Given the description of an element on the screen output the (x, y) to click on. 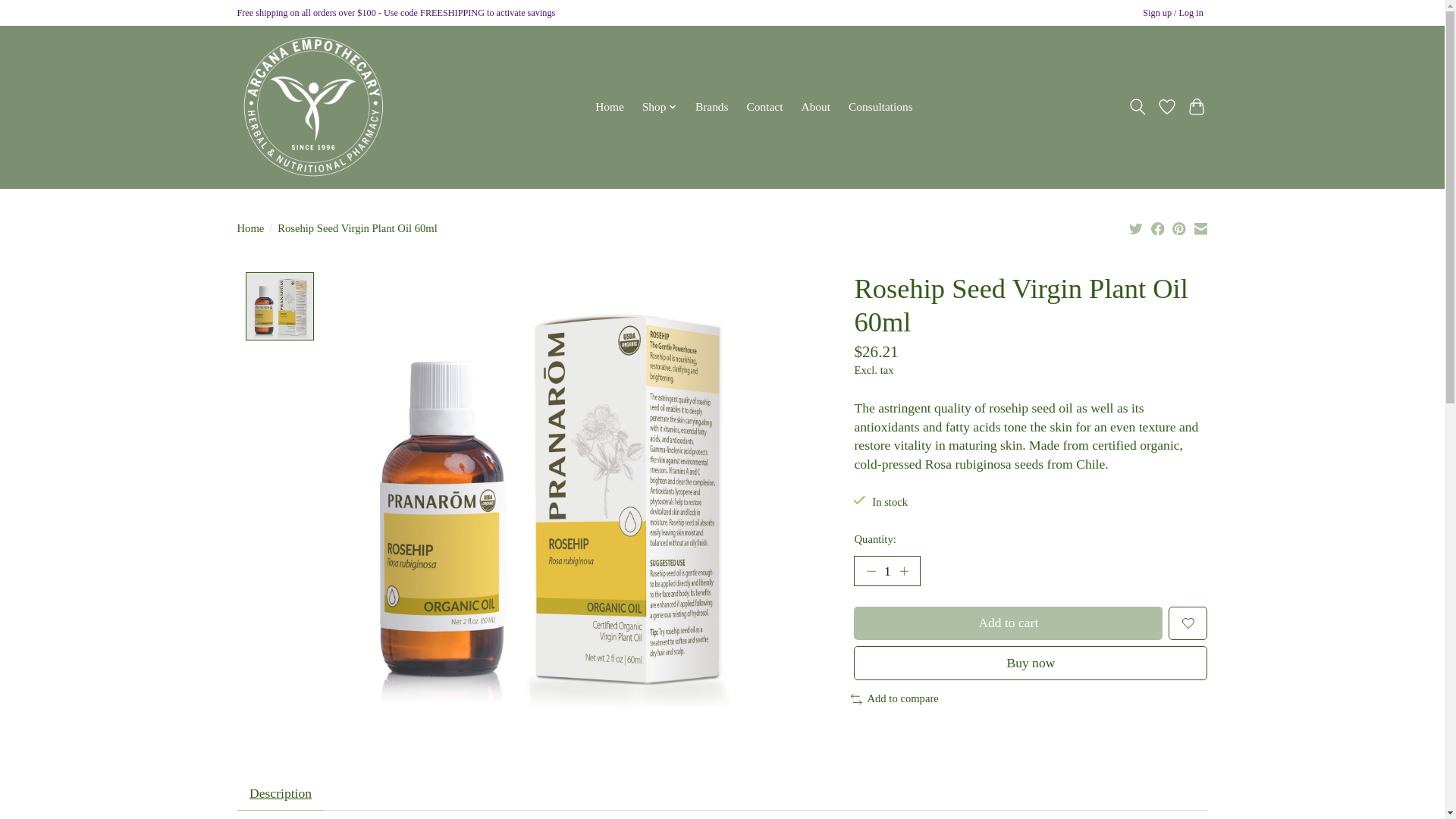
Home (608, 106)
Shop (659, 106)
Share on Facebook (1157, 228)
1 (886, 571)
Share on Pinterest (1178, 228)
Share on Twitter (1135, 228)
Arcana Herbal and Nutritional Pharmacy (311, 106)
Share by Email (1200, 228)
My account (1173, 13)
